Given the description of an element on the screen output the (x, y) to click on. 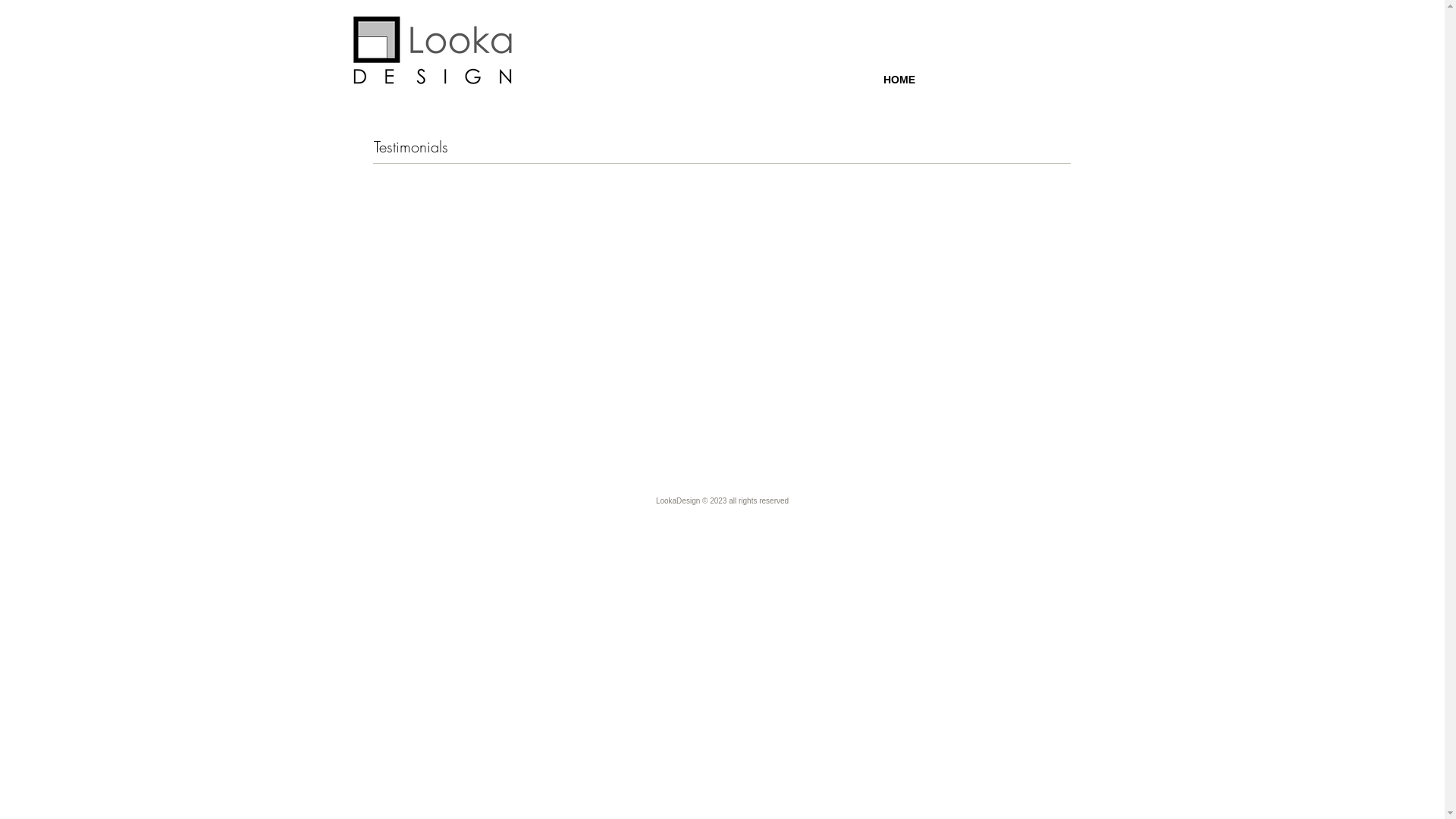
HOME Element type: text (899, 79)
LookaLogo.png Element type: hover (435, 48)
